Given the description of an element on the screen output the (x, y) to click on. 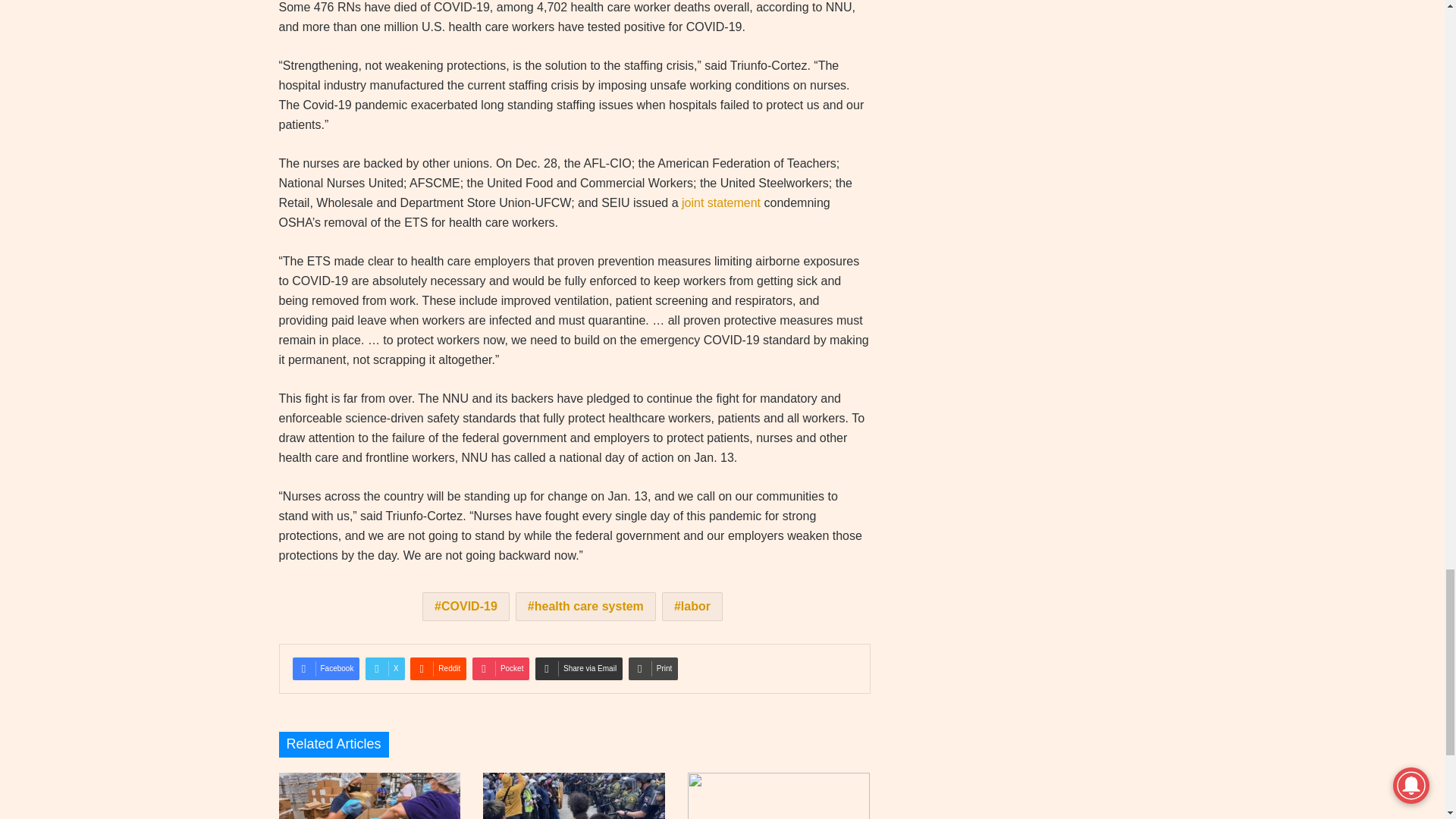
Facebook (325, 668)
Share via Email (579, 668)
X (384, 668)
Pocket (500, 668)
Reddit (437, 668)
Print (653, 668)
